Given the description of an element on the screen output the (x, y) to click on. 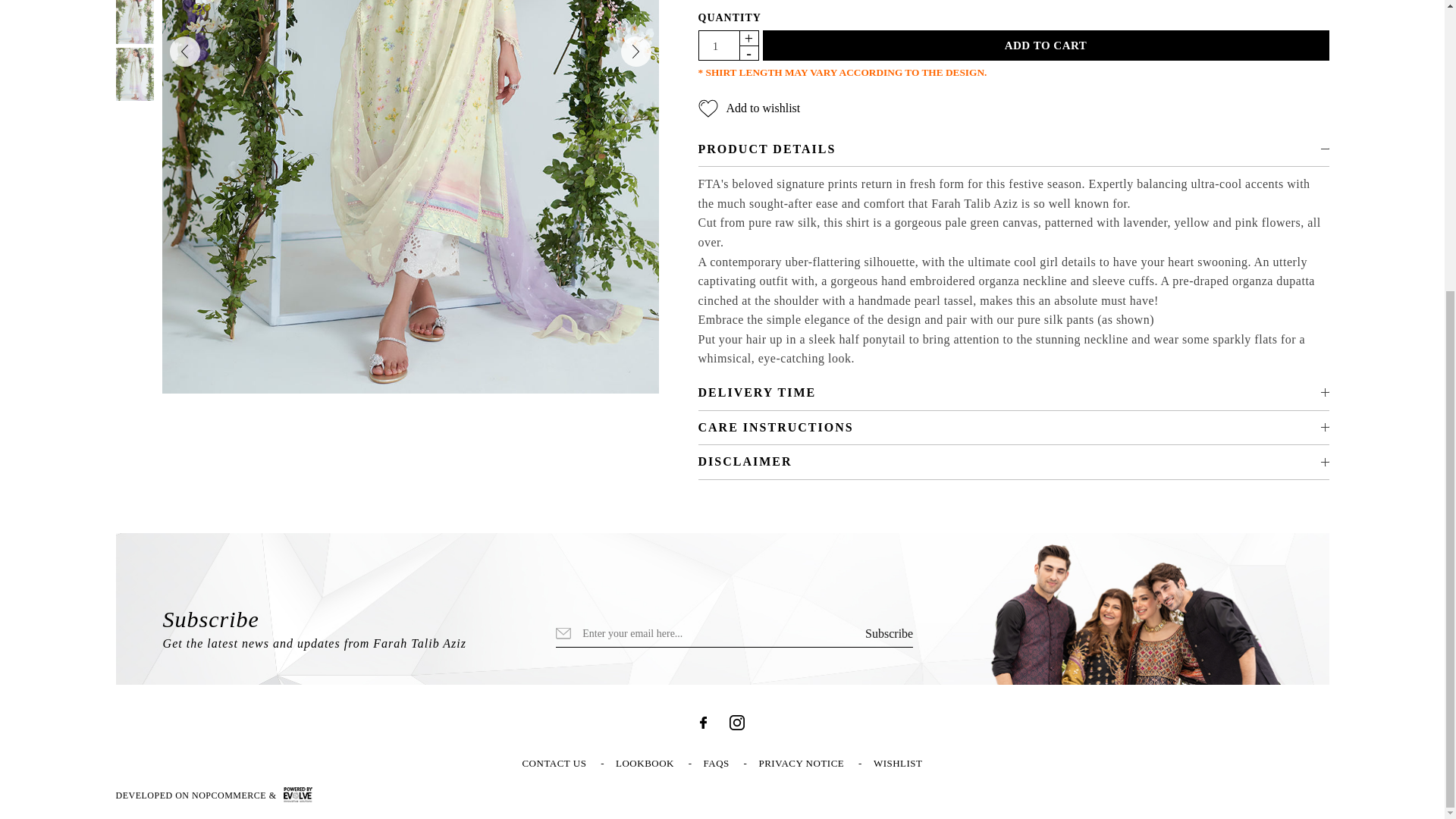
Add to wishlist (748, 108)
wishlist (897, 763)
- (747, 52)
lookbook (644, 763)
Privacy Notice (800, 763)
Contact Us (553, 763)
Add to cart (1045, 45)
1 (715, 46)
Subscribe (888, 633)
